Given the description of an element on the screen output the (x, y) to click on. 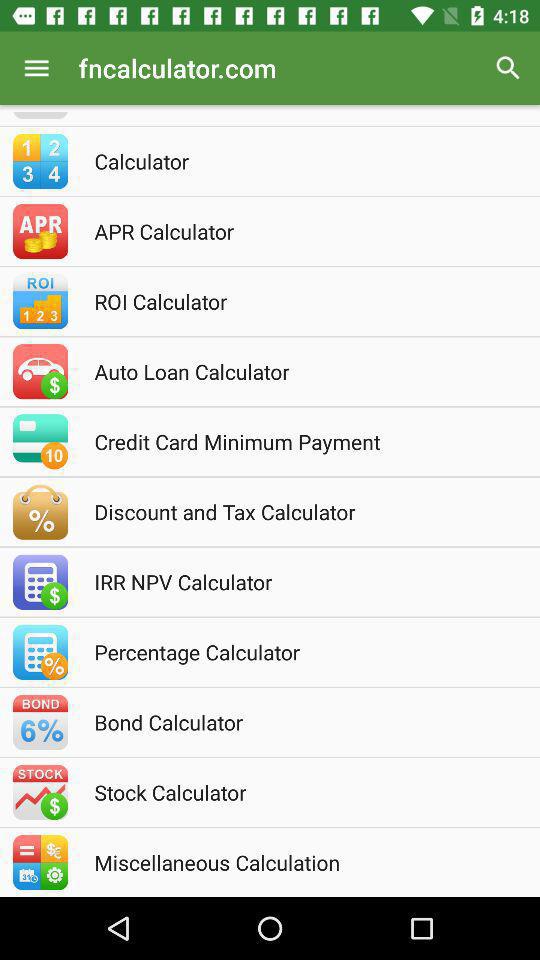
jump until the bond calculator icon (297, 722)
